Given the description of an element on the screen output the (x, y) to click on. 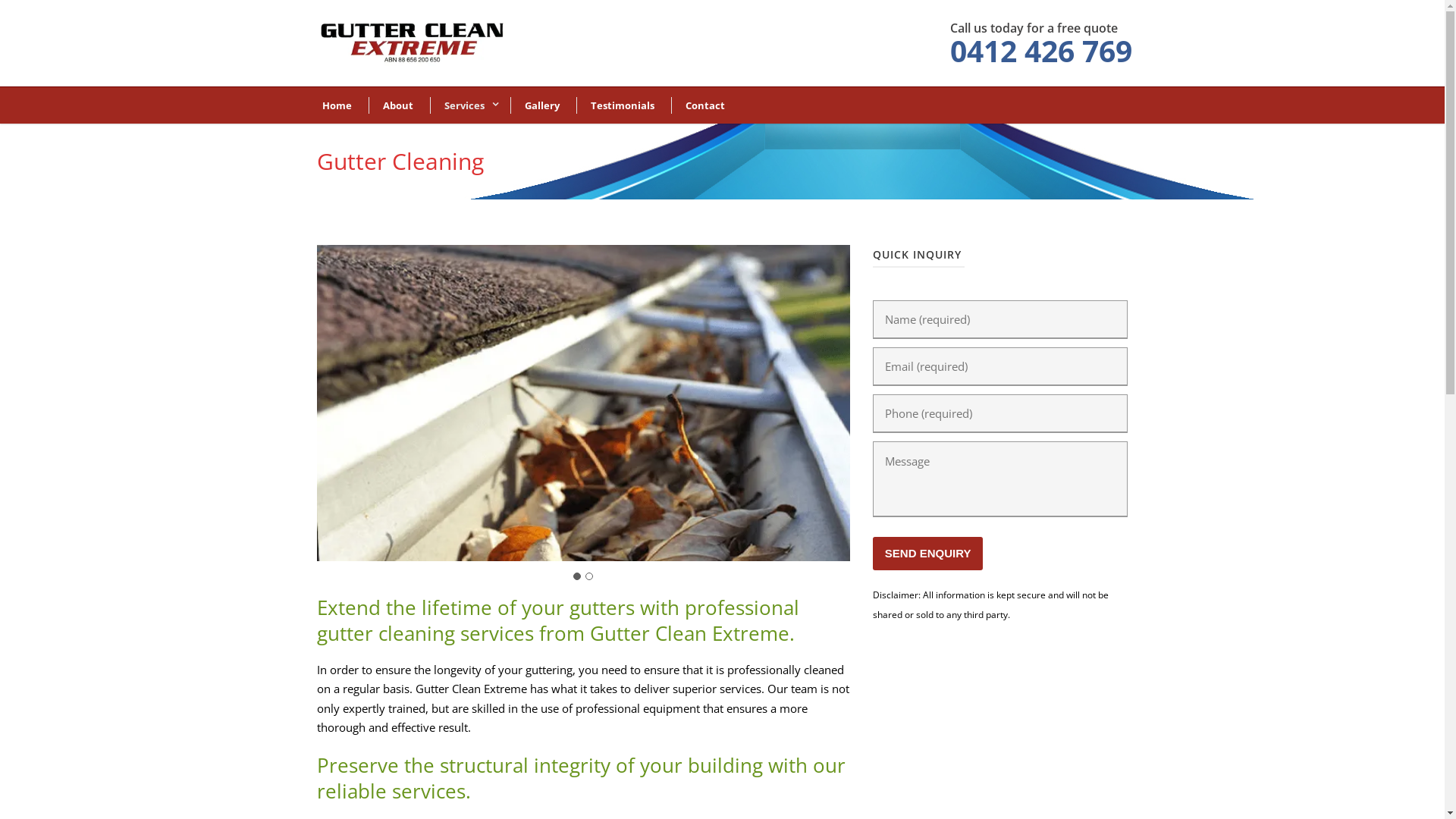
Send Enquiry Element type: text (927, 553)
About Element type: text (392, 105)
Services Element type: text (463, 105)
Gallery Element type: text (536, 105)
2 Element type: text (589, 576)
1 Element type: text (576, 576)
0412 426 769 Element type: text (1040, 50)
Testimonials Element type: text (617, 105)
Contact Element type: text (699, 105)
Home Element type: text (333, 105)
